Given the description of an element on the screen output the (x, y) to click on. 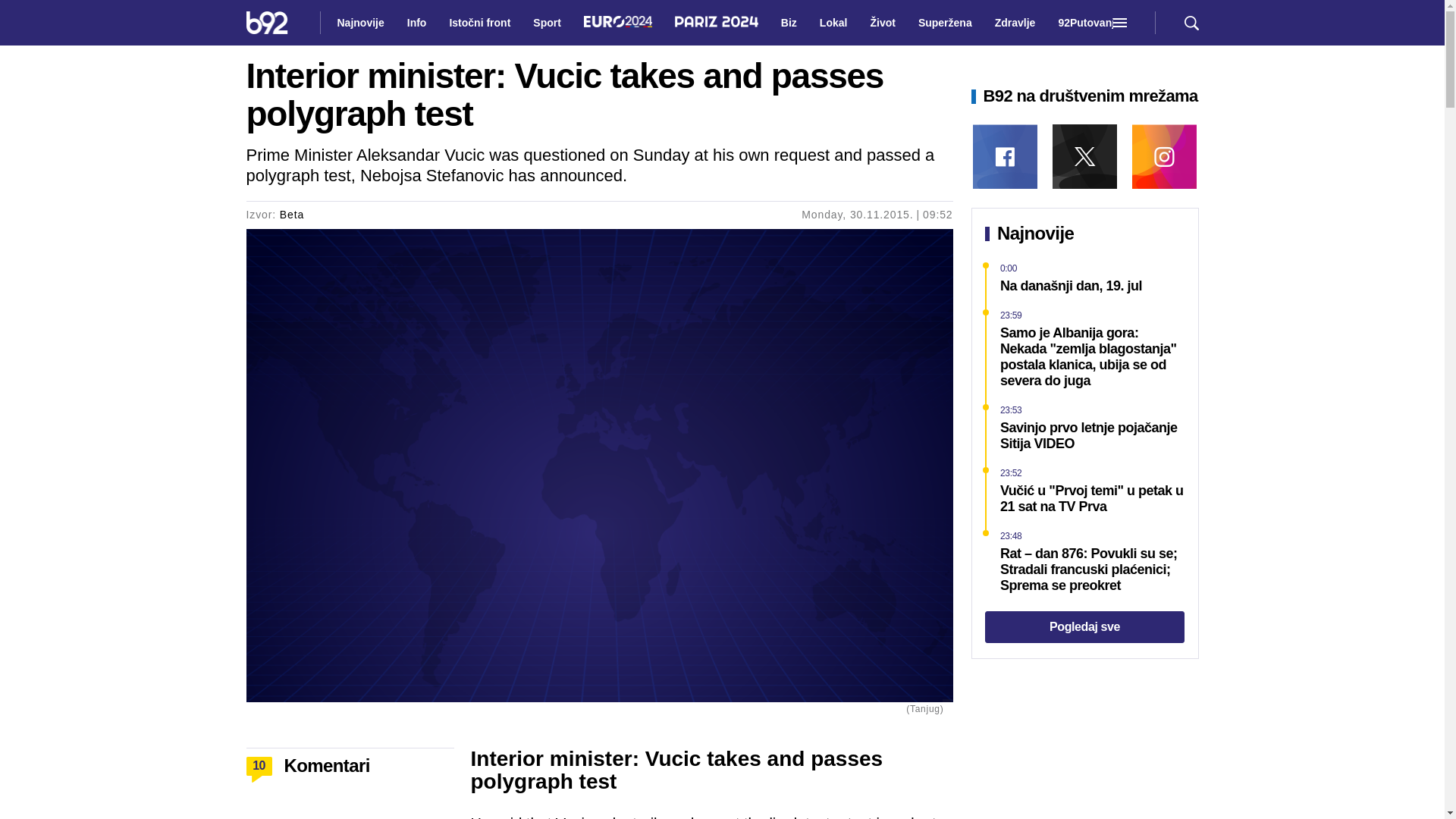
Najnovije (360, 22)
Biz (789, 22)
Sport (547, 22)
Lokal (834, 22)
Info (415, 22)
Zdravlje (1015, 22)
92Putovanja (1087, 22)
